Given the description of an element on the screen output the (x, y) to click on. 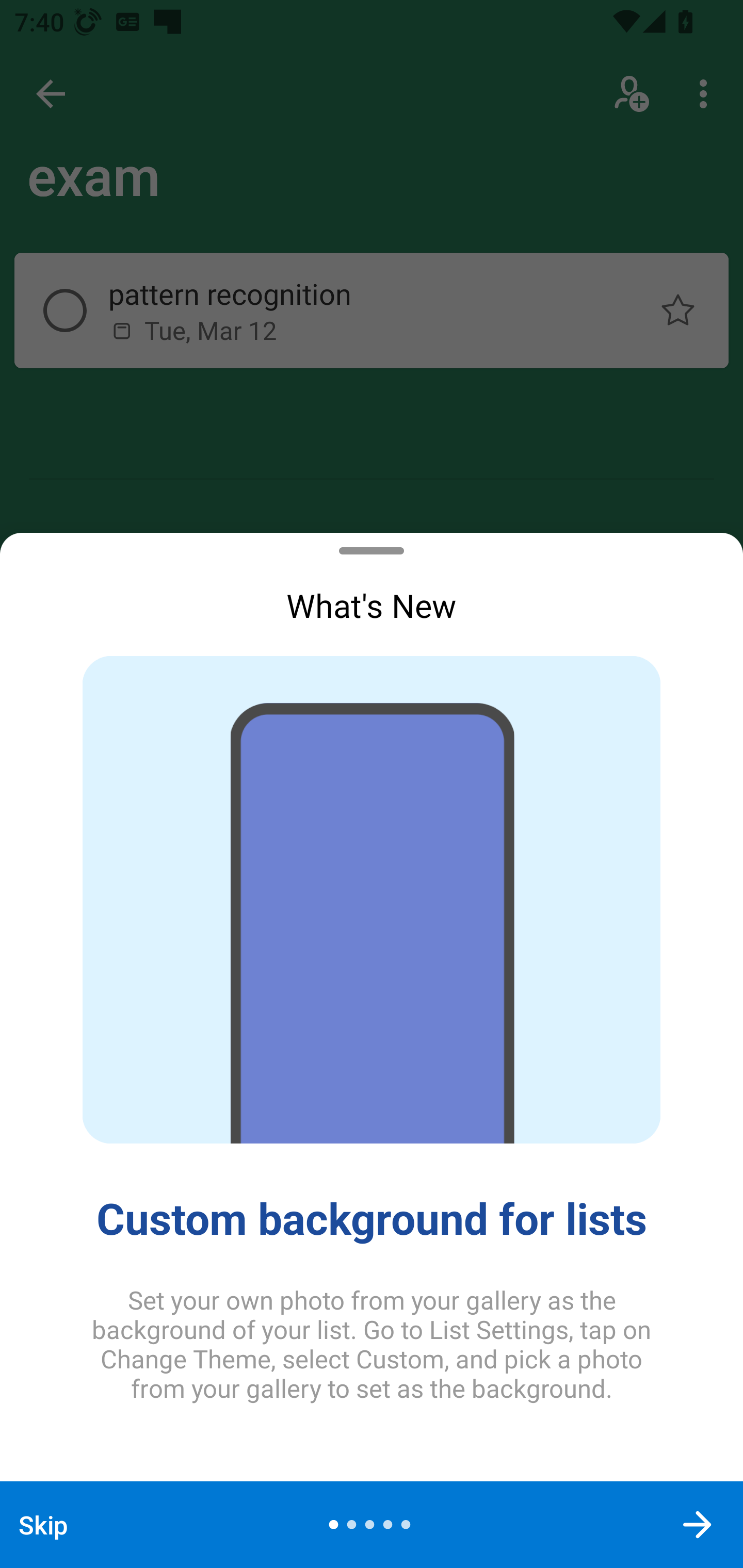
Skip (43, 1524)
Next (697, 1524)
